Given the description of an element on the screen output the (x, y) to click on. 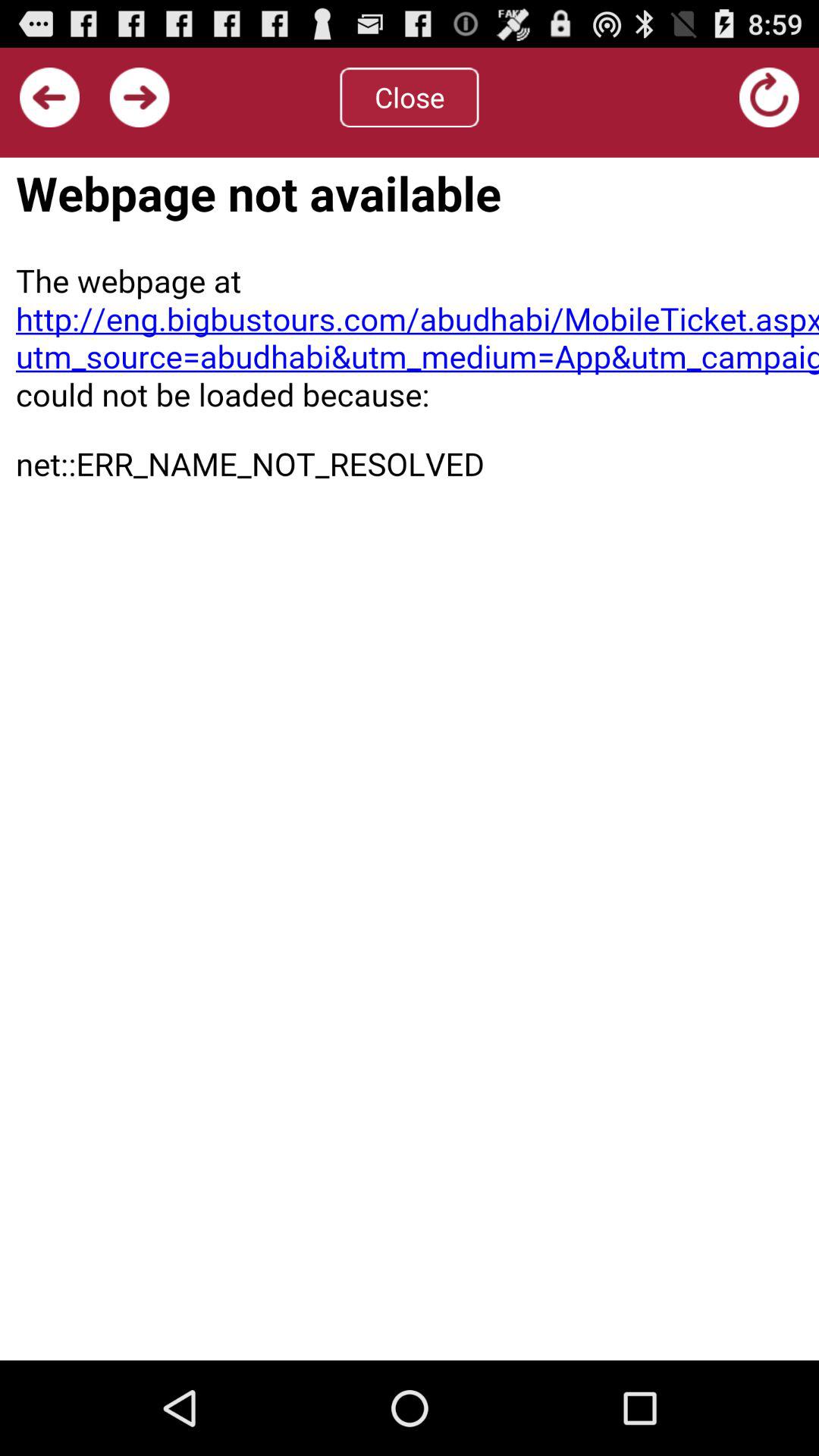
go forward (139, 97)
